Given the description of an element on the screen output the (x, y) to click on. 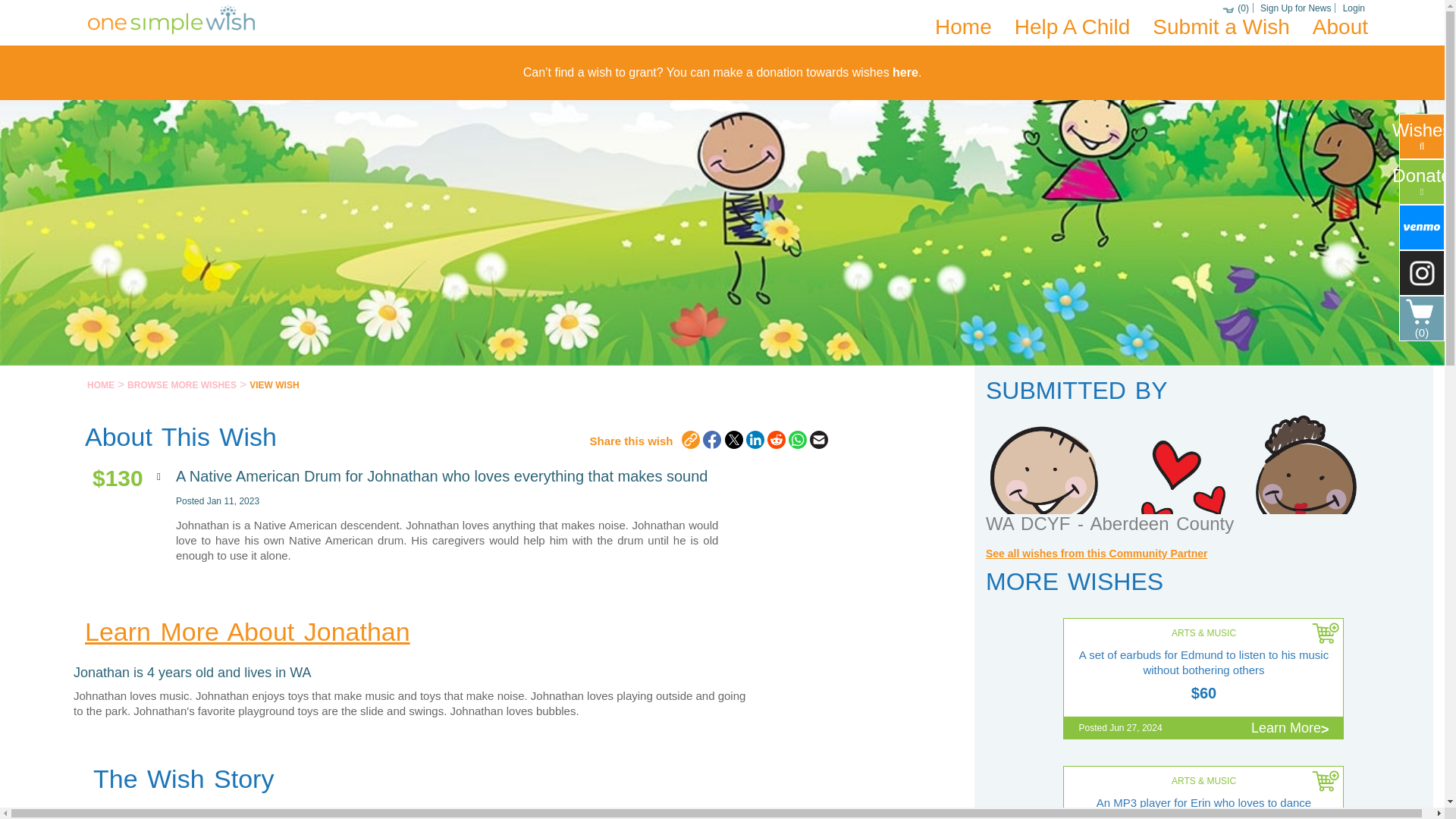
WhatsApp (797, 439)
Login (1353, 8)
Email a Link (818, 439)
150916 (1325, 783)
Copy to Clipboard (690, 439)
Add to Cart (1325, 636)
Facebook (711, 439)
Wishes (1421, 136)
Submit a Wish (1221, 26)
Donate (1420, 182)
LinkedIn (754, 439)
Email a Link (818, 439)
here (905, 72)
Home (963, 26)
Help A Child (1072, 26)
